Given the description of an element on the screen output the (x, y) to click on. 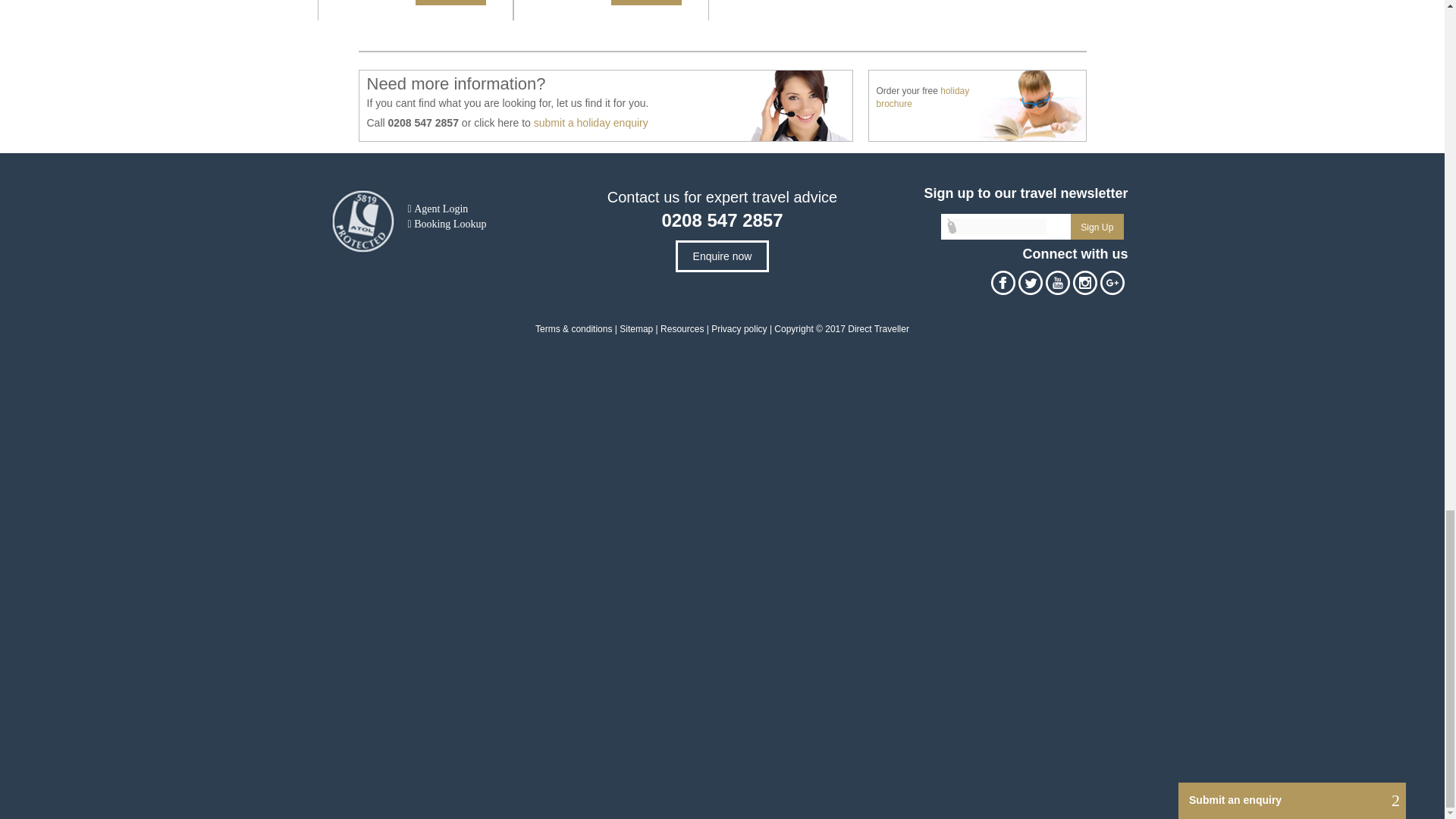
Discover More (450, 2)
Discover More (646, 2)
Sign Up (1097, 226)
